Given the description of an element on the screen output the (x, y) to click on. 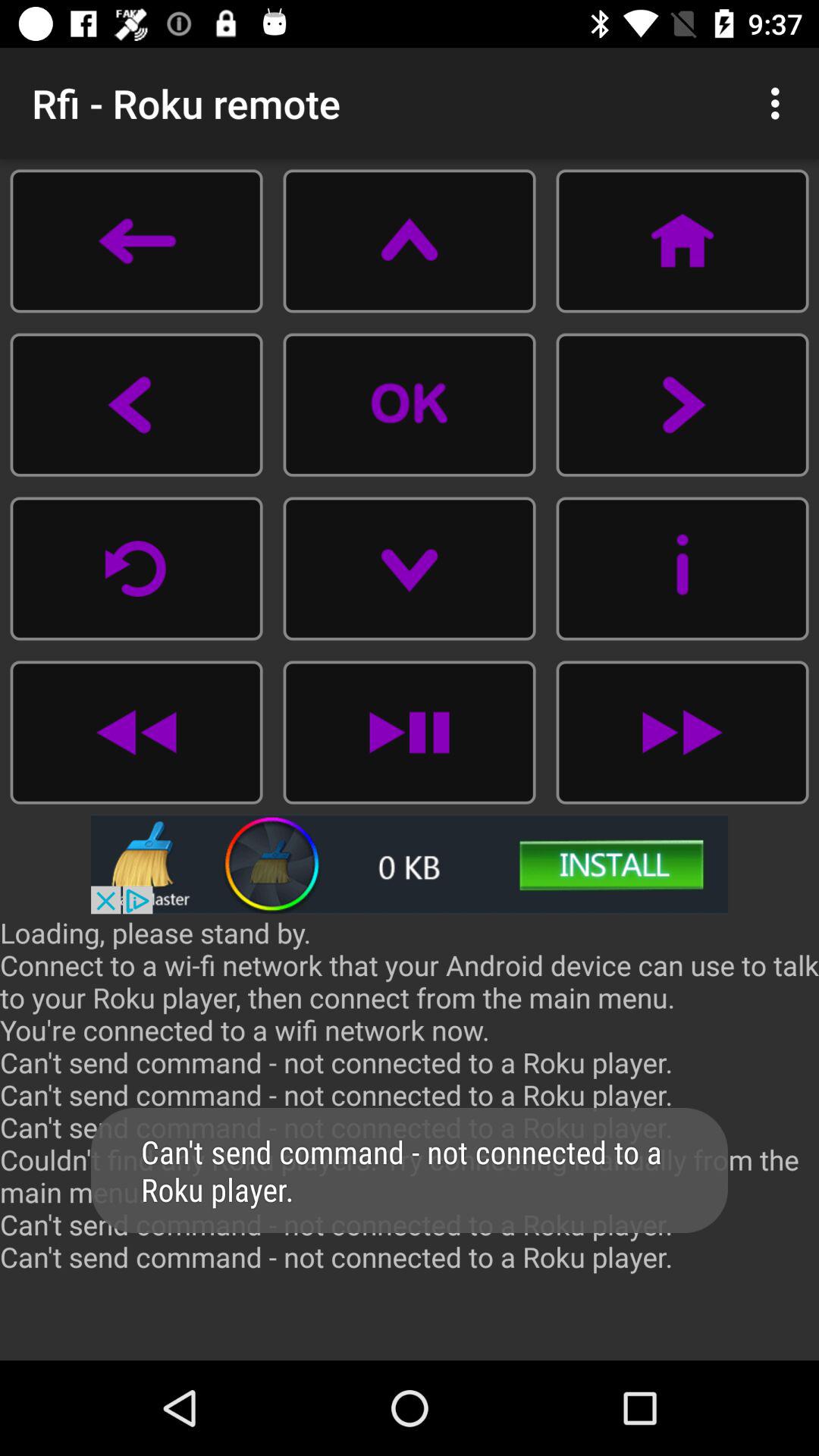
go next (682, 732)
